Given the description of an element on the screen output the (x, y) to click on. 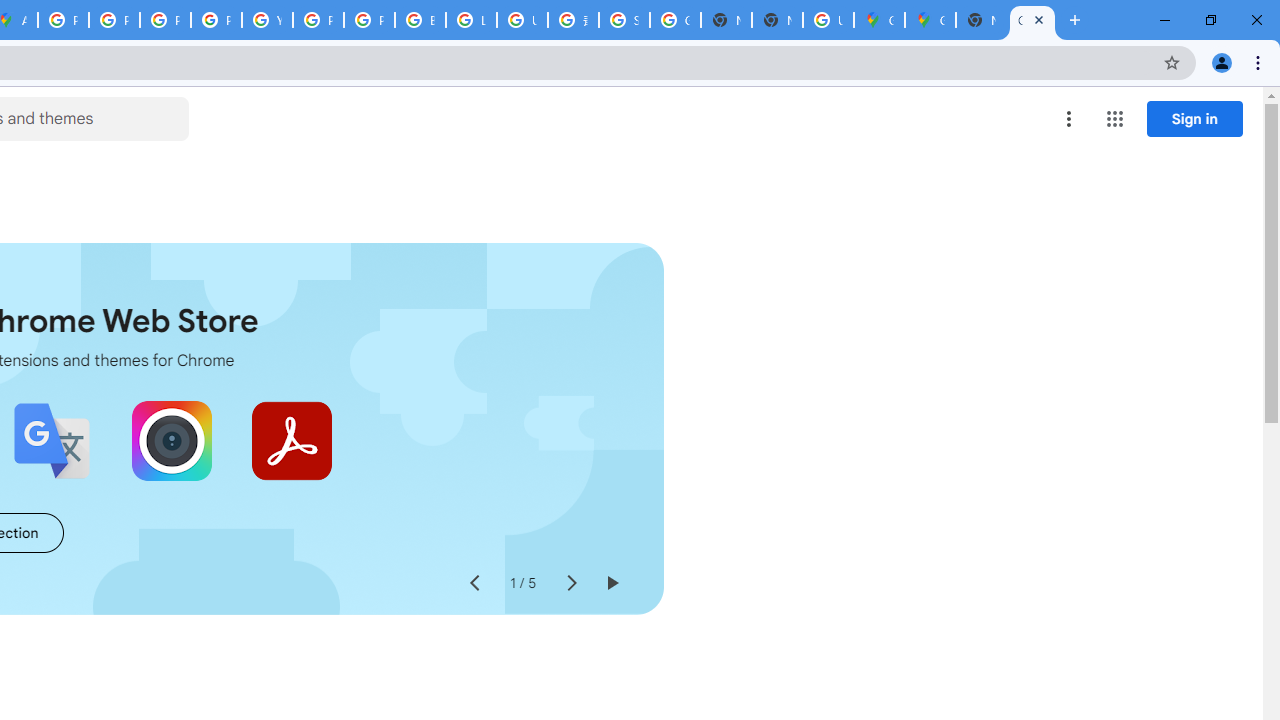
Policy Accountability and Transparency - Transparency Center (63, 20)
Resume auto-play (611, 583)
Awesome Screen Recorder & Screenshot (171, 440)
Sign in - Google Accounts (624, 20)
Chrome Web Store (1032, 20)
Use Google Maps in Space - Google Maps Help (827, 20)
Google Maps (878, 20)
New Tab (981, 20)
